Given the description of an element on the screen output the (x, y) to click on. 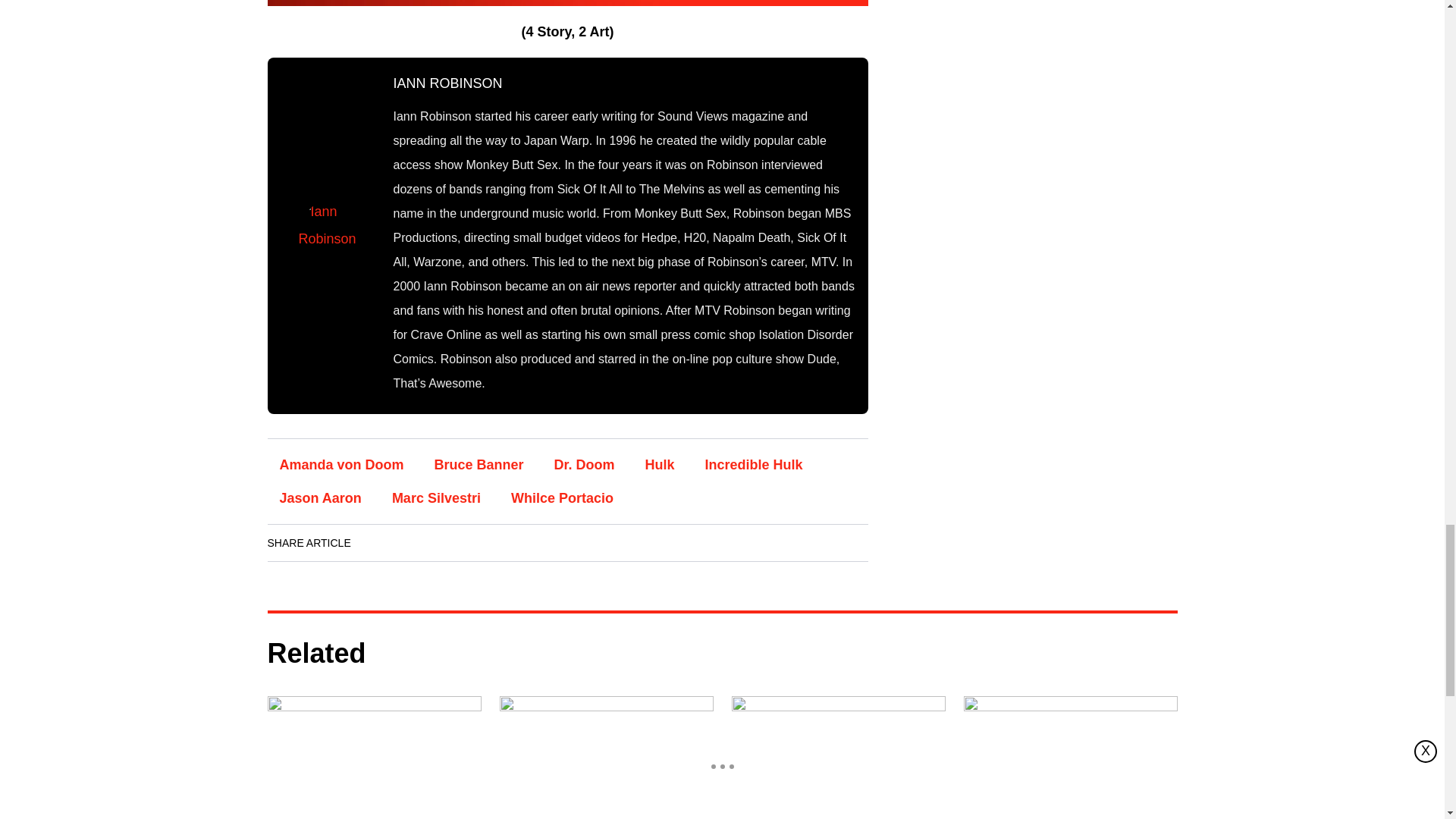
Whilce Portacio (562, 497)
Incredible Hulk (754, 464)
Hulk (660, 464)
Pinterest (505, 542)
The 64 Marvel Superhero Movies: Ranked From Worst to Best (373, 755)
Marc Silvestri (436, 497)
Comic-Con 2013 Schedule: Day 1 (837, 755)
LinkedIn (420, 542)
Jason Aaron (319, 497)
Dr. Doom (584, 464)
